Given the description of an element on the screen output the (x, y) to click on. 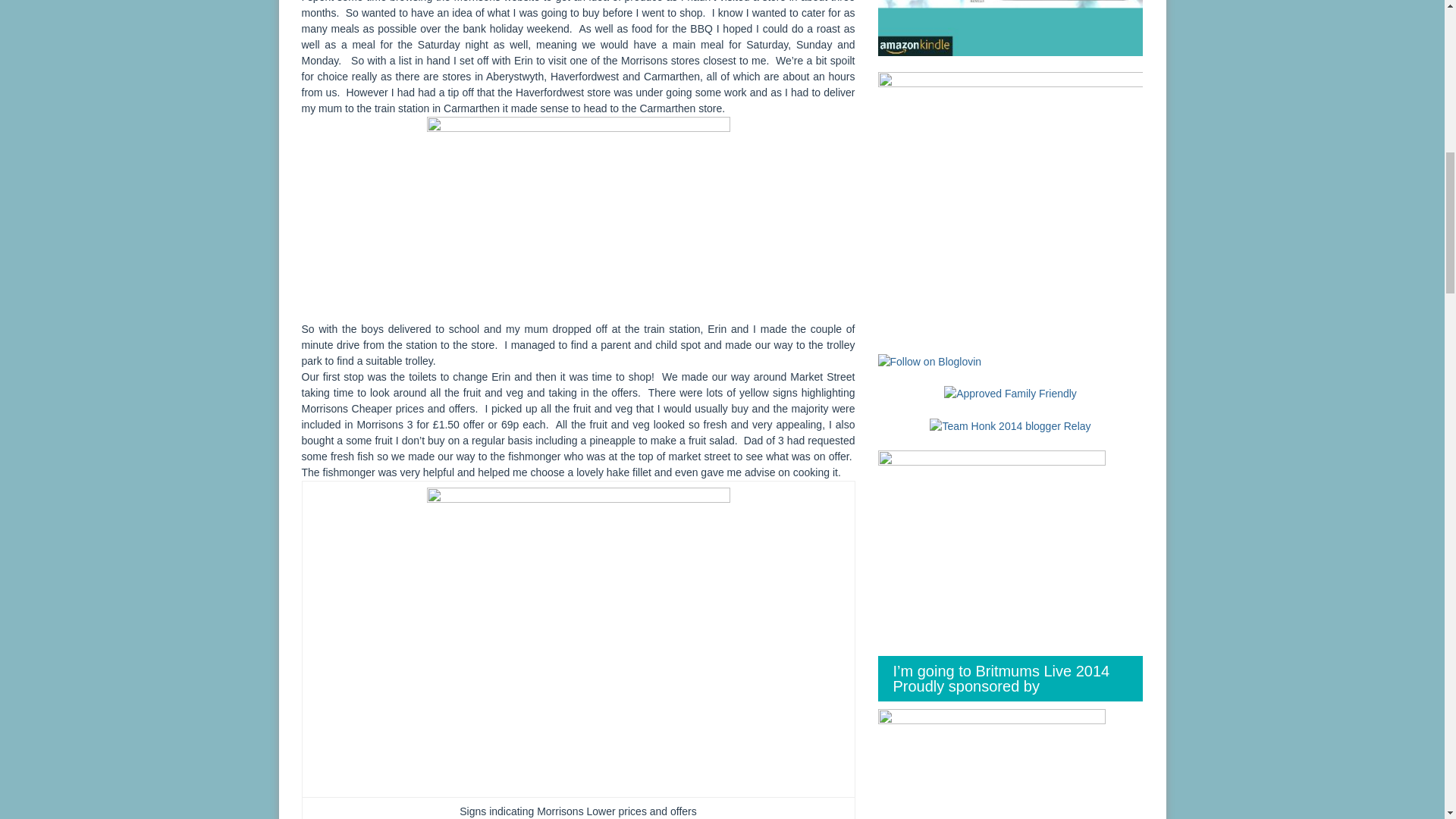
Approved Family Friendly Trustmark (1010, 393)
Follow Mum of 3 Boys on Bloglovin (929, 360)
Team Honk 2014 blogger Relay (1010, 425)
AFF Assessor Badge (1010, 393)
